Given the description of an element on the screen output the (x, y) to click on. 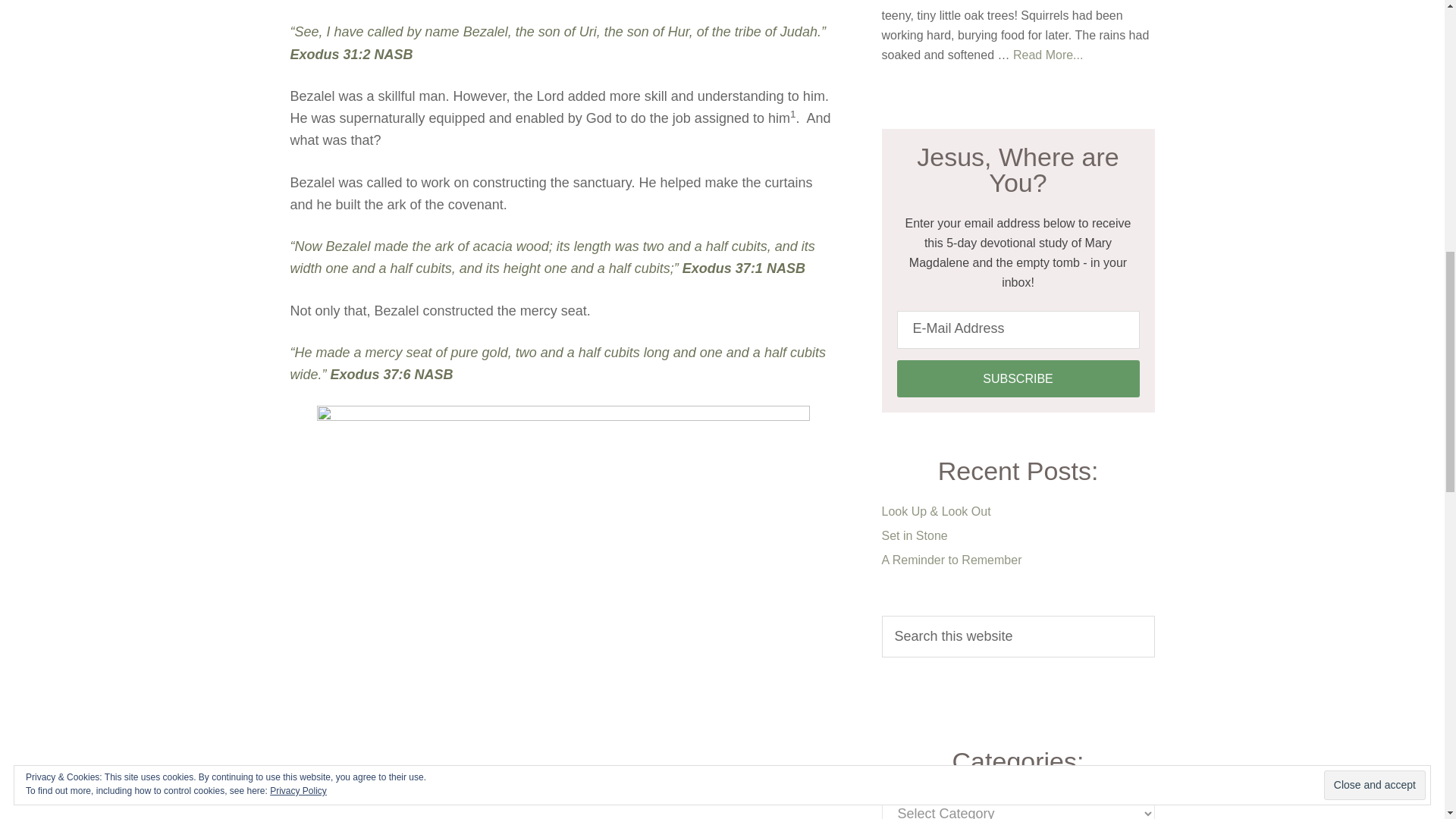
A Reminder to Remember (951, 559)
Subscribe (1017, 378)
Read More... (1048, 54)
Subscribe (1017, 378)
Set in Stone (913, 535)
